Given the description of an element on the screen output the (x, y) to click on. 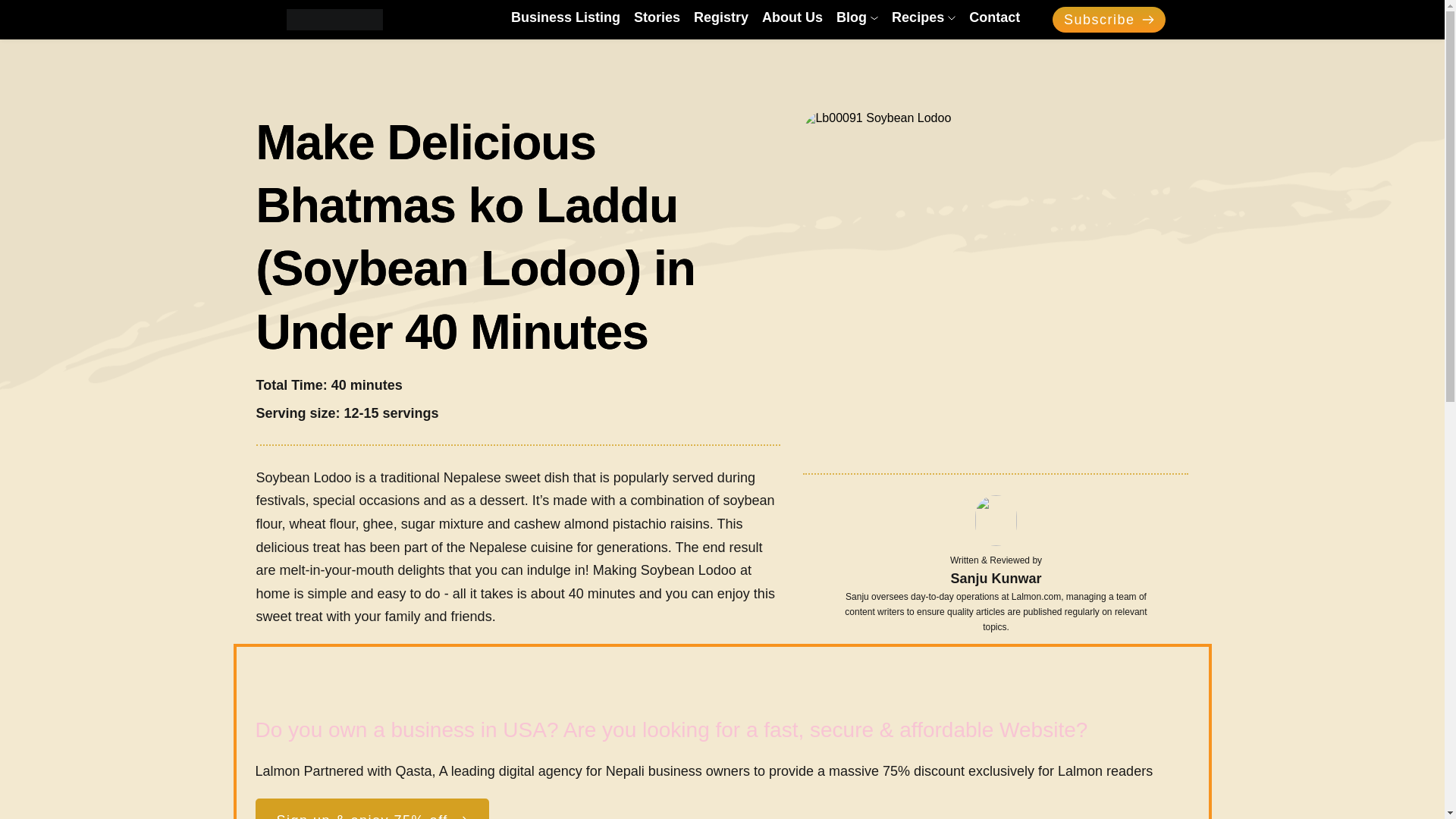
Business Listing (565, 17)
Blog (856, 17)
About Us (791, 17)
Contact (994, 17)
Stories (656, 17)
Recipes (923, 17)
Registry (721, 17)
